Given the description of an element on the screen output the (x, y) to click on. 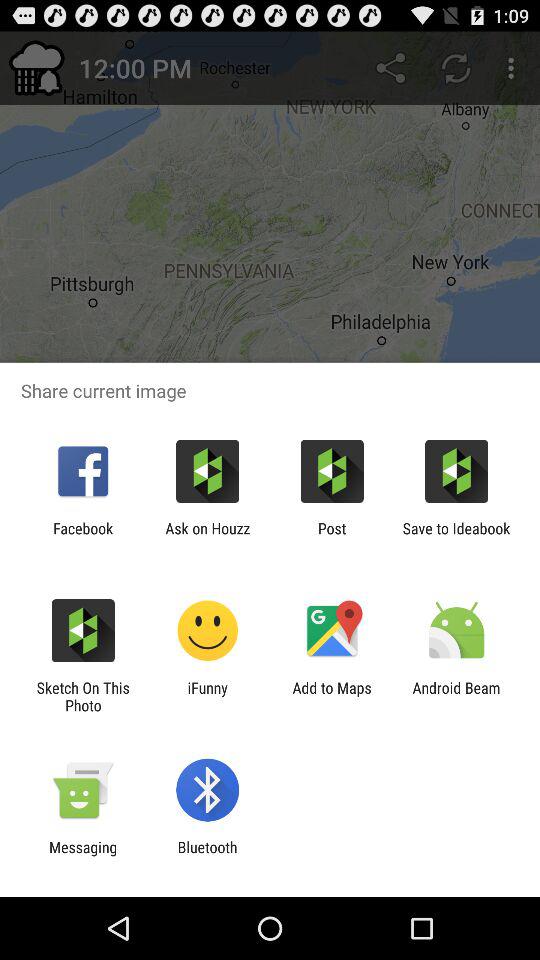
select item next to the android beam (331, 696)
